Given the description of an element on the screen output the (x, y) to click on. 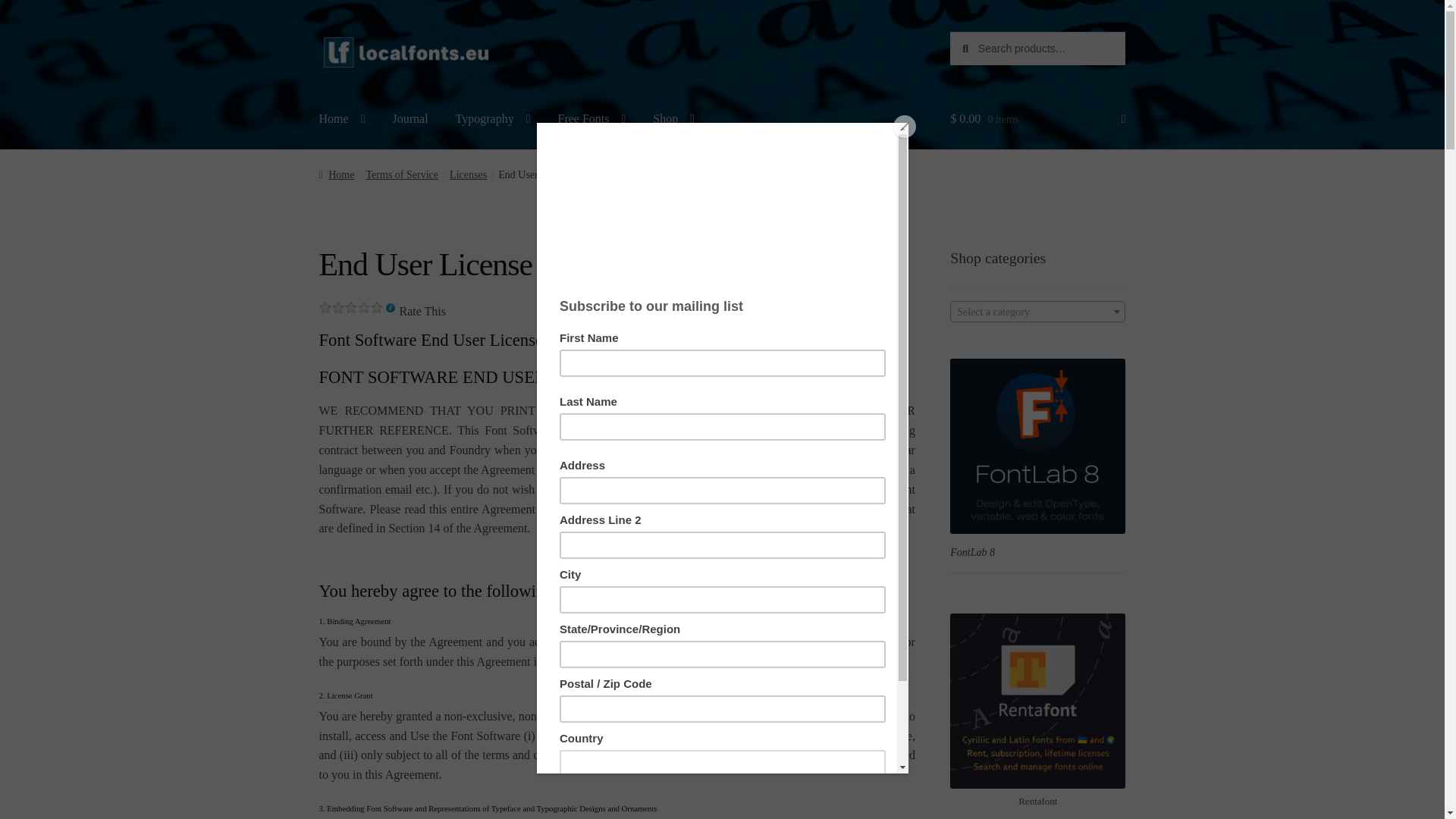
Home (342, 118)
Journal (409, 118)
Typography (493, 118)
View your shopping cart (1037, 118)
